Given the description of an element on the screen output the (x, y) to click on. 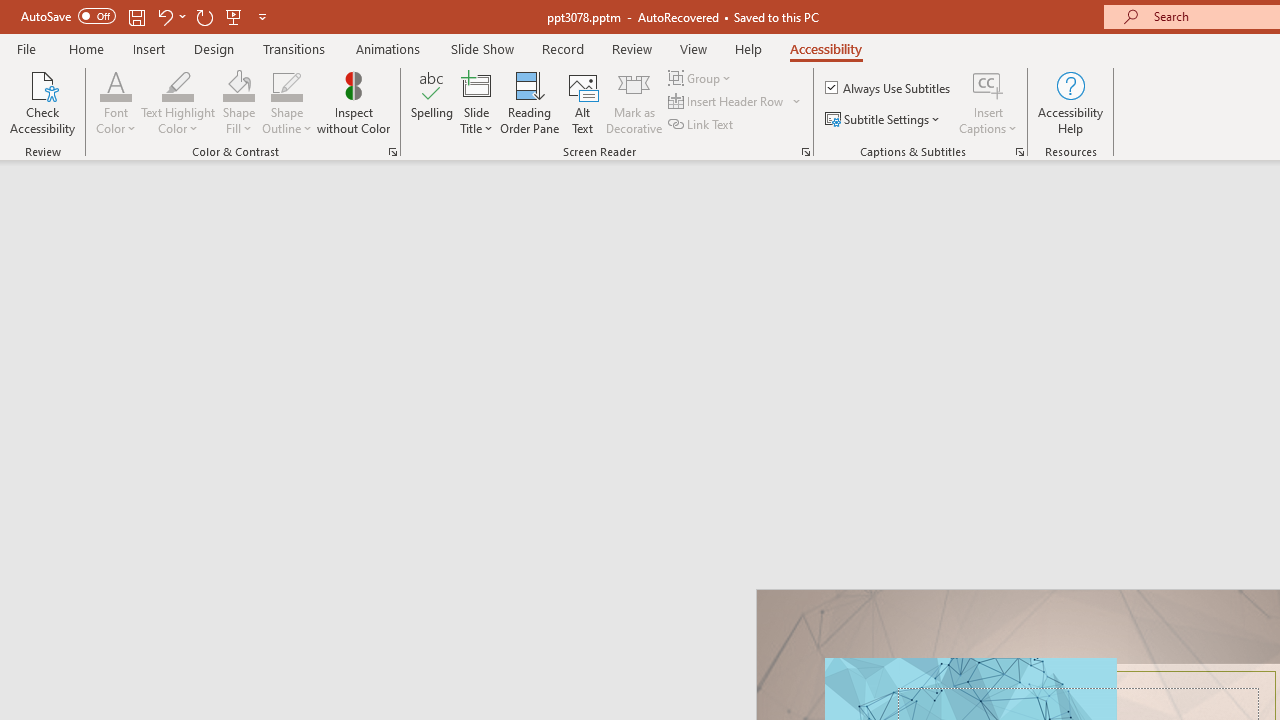
Adjust indents and spacing - Microsoft Support (42, 613)
Gmail (637, 138)
Wikipedia, the free encyclopedia (437, 138)
